Given the description of an element on the screen output the (x, y) to click on. 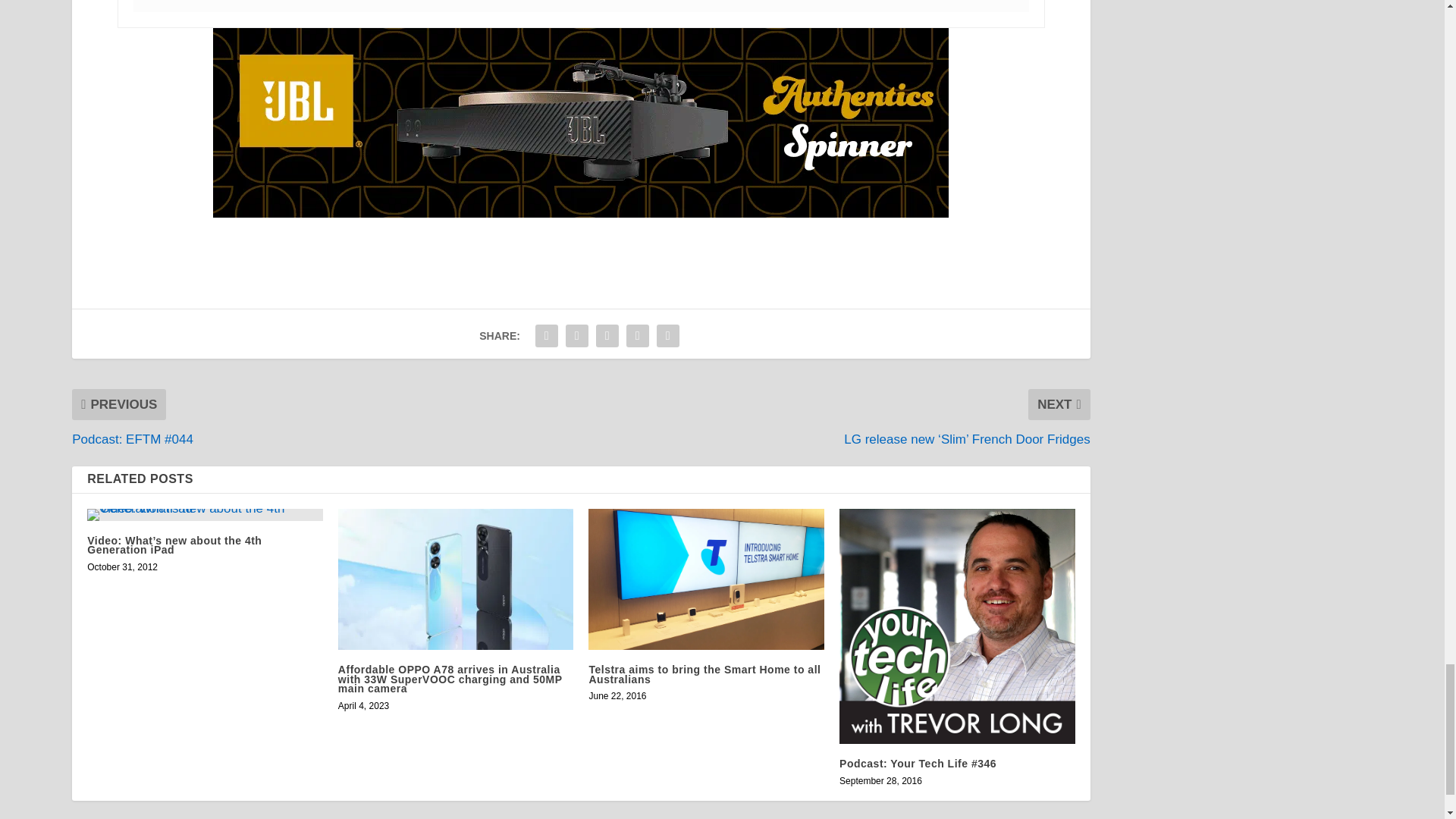
Telstra aims to bring the Smart Home to all Australians (706, 579)
